Given the description of an element on the screen output the (x, y) to click on. 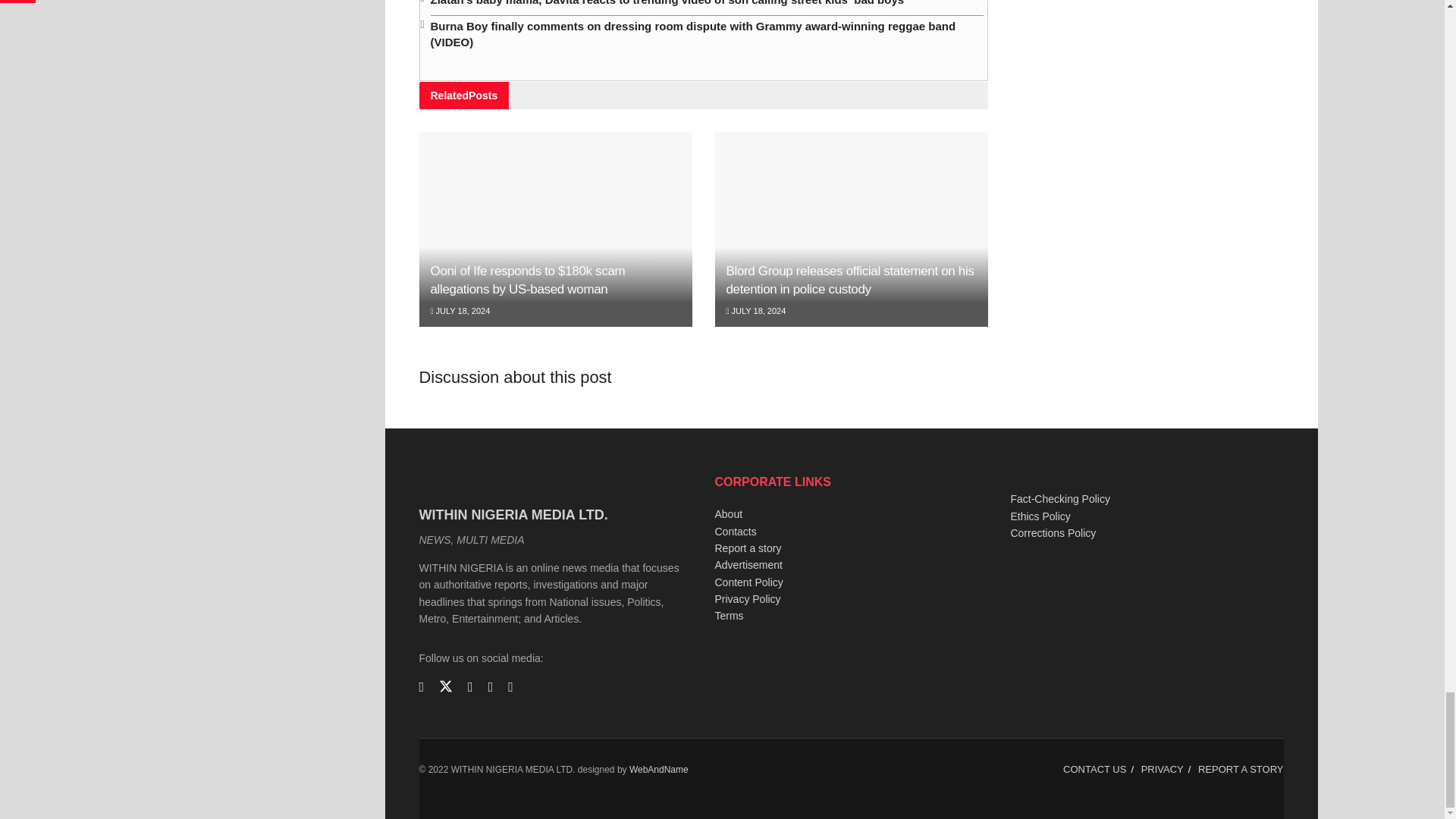
WEB AND NAME (658, 769)
